Given the description of an element on the screen output the (x, y) to click on. 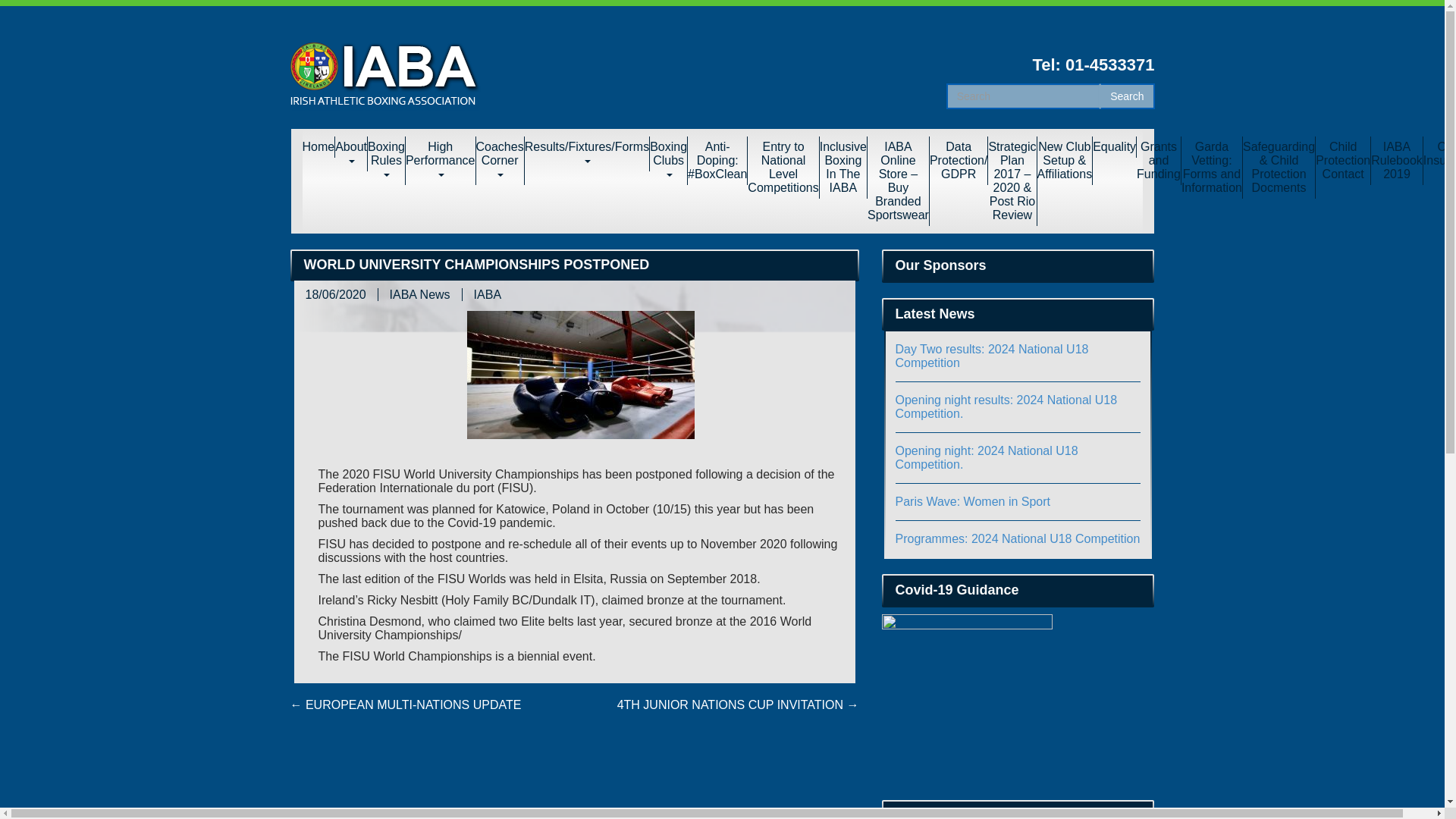
Home (317, 147)
High Performance (441, 160)
Coaches Corner (500, 160)
Search (1127, 95)
Search for: (1023, 95)
Search (1127, 95)
Home (317, 147)
About (351, 153)
About (351, 153)
Search (1127, 95)
